Given the description of an element on the screen output the (x, y) to click on. 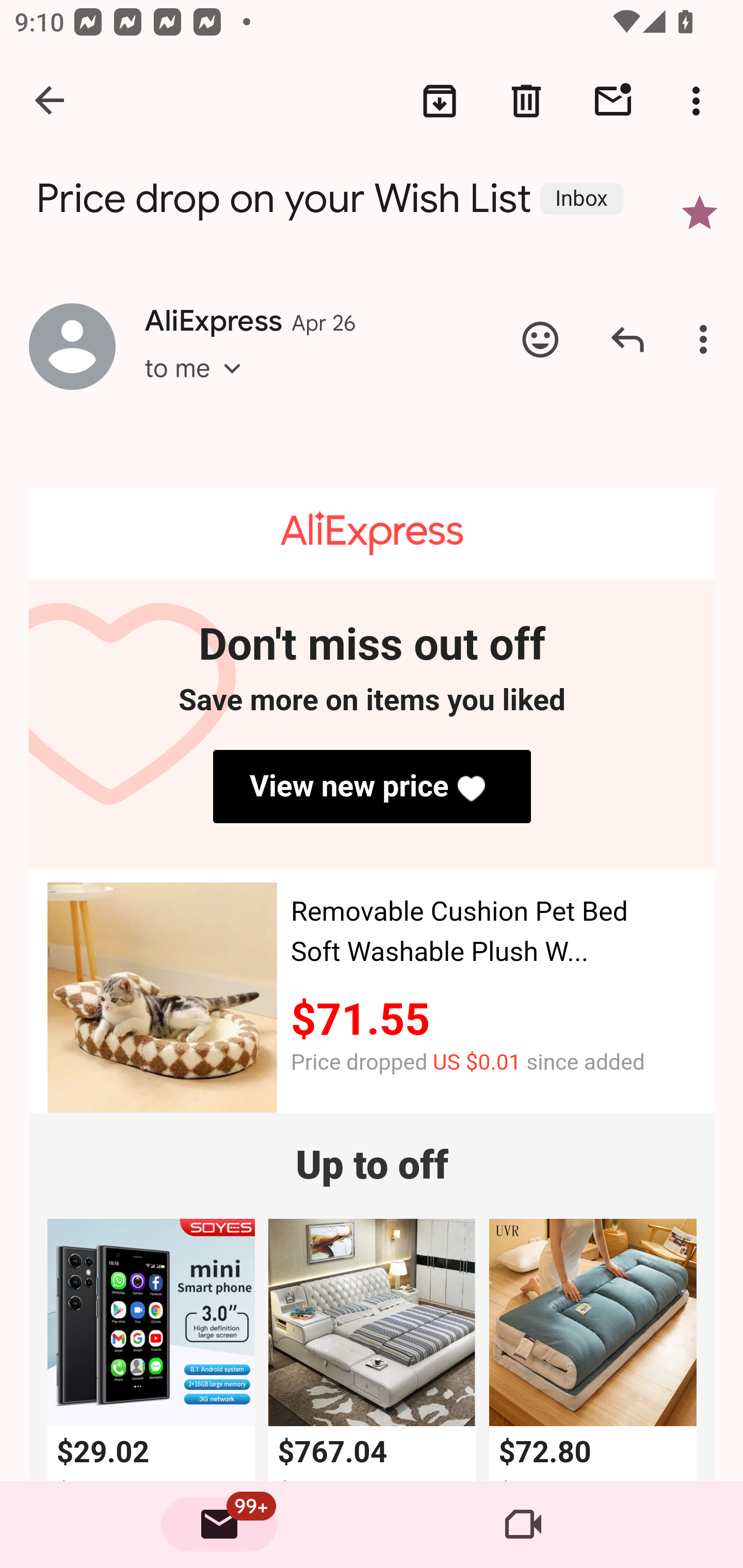
Navigate up (50, 101)
Archive (439, 101)
Delete (525, 101)
Mark unread (612, 101)
More options (699, 101)
Remove star (699, 212)
Add emoji reaction (540, 339)
Reply (626, 339)
More options (706, 339)
Show contact information for AliExpress (71, 346)
to me (199, 386)
Meet (523, 1524)
